Given the description of an element on the screen output the (x, y) to click on. 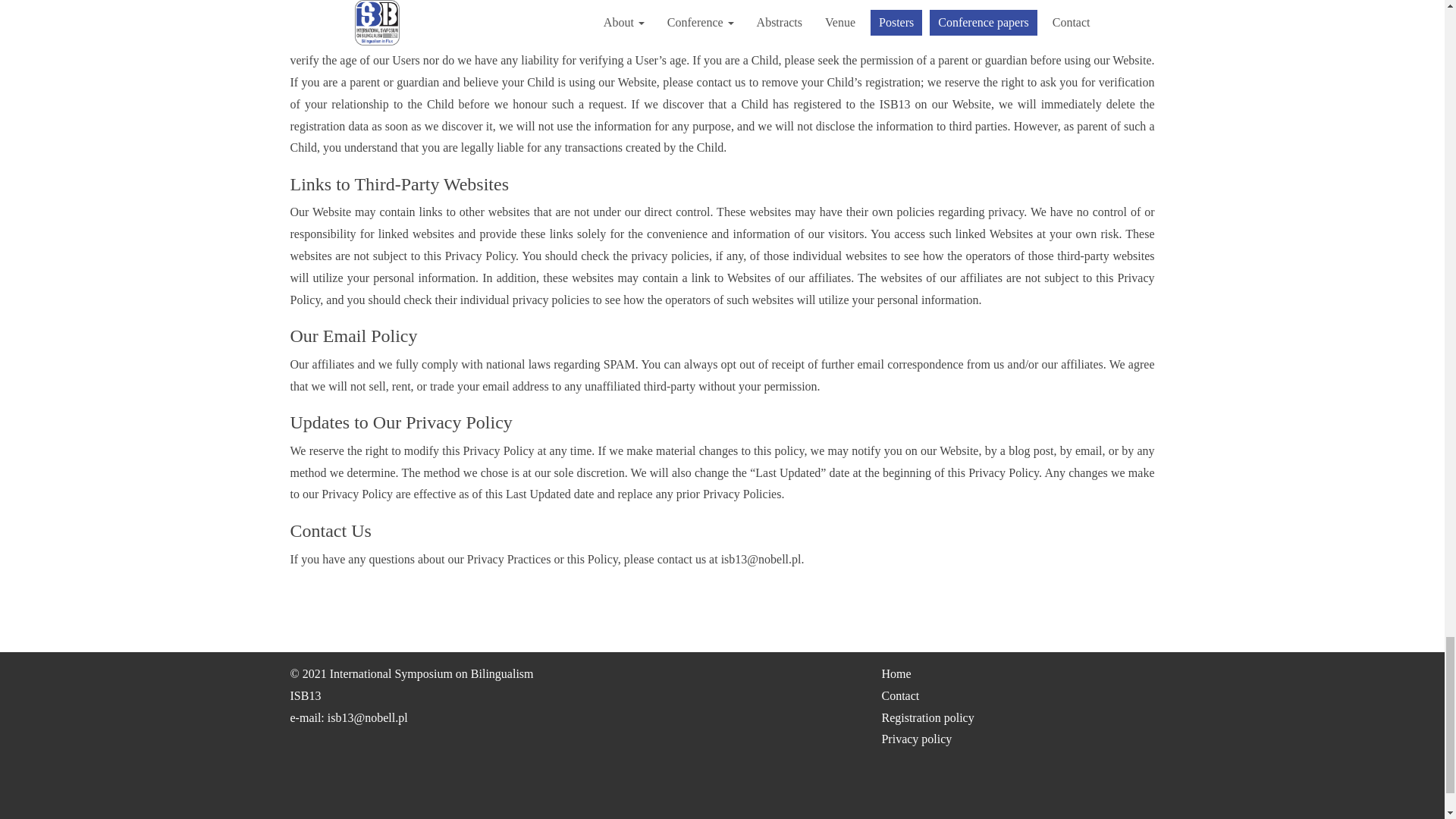
Contact (899, 695)
Home (895, 673)
Registration policy (927, 717)
Privacy policy (916, 738)
